Given the description of an element on the screen output the (x, y) to click on. 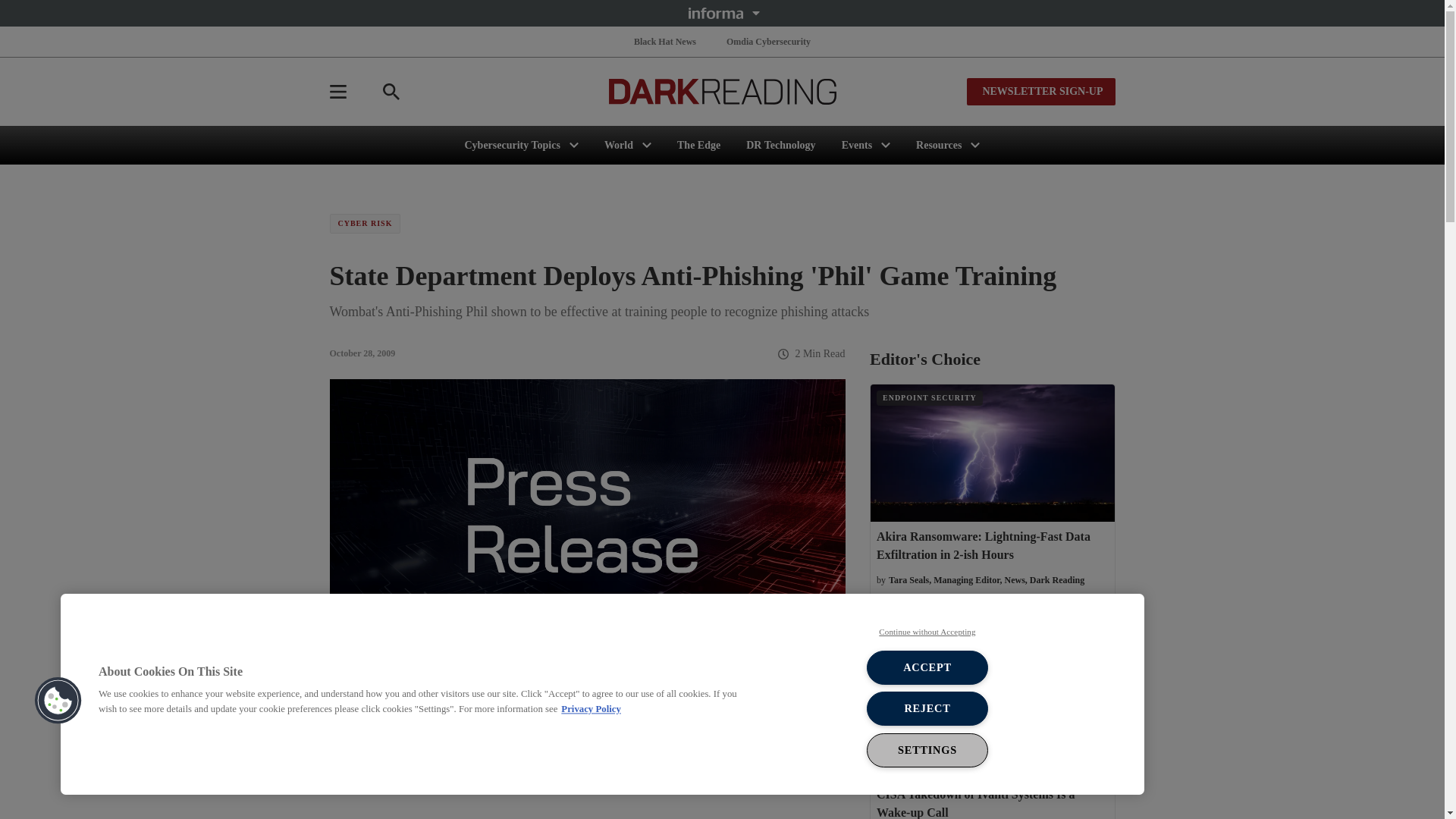
Dark Reading Logo (721, 91)
NEWSLETTER SIGN-UP (1040, 90)
Cookies Button (57, 700)
Black Hat News (664, 41)
Omdia Cybersecurity (768, 41)
